Given the description of an element on the screen output the (x, y) to click on. 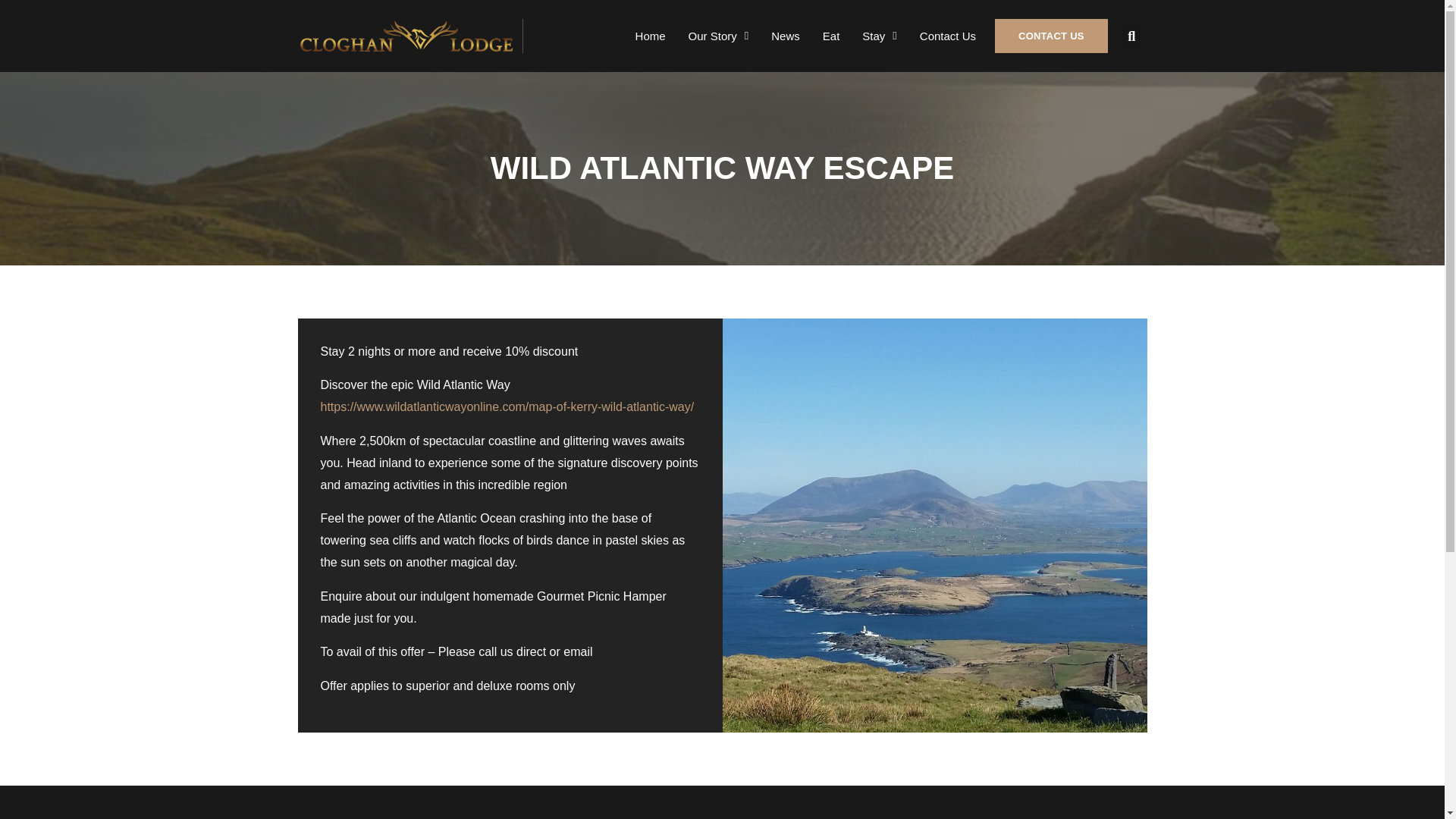
CONTACT US (1051, 35)
Our Story (718, 36)
Stay (879, 36)
Contact Us (947, 36)
News (785, 36)
Eat (830, 36)
Home (650, 36)
